Given the description of an element on the screen output the (x, y) to click on. 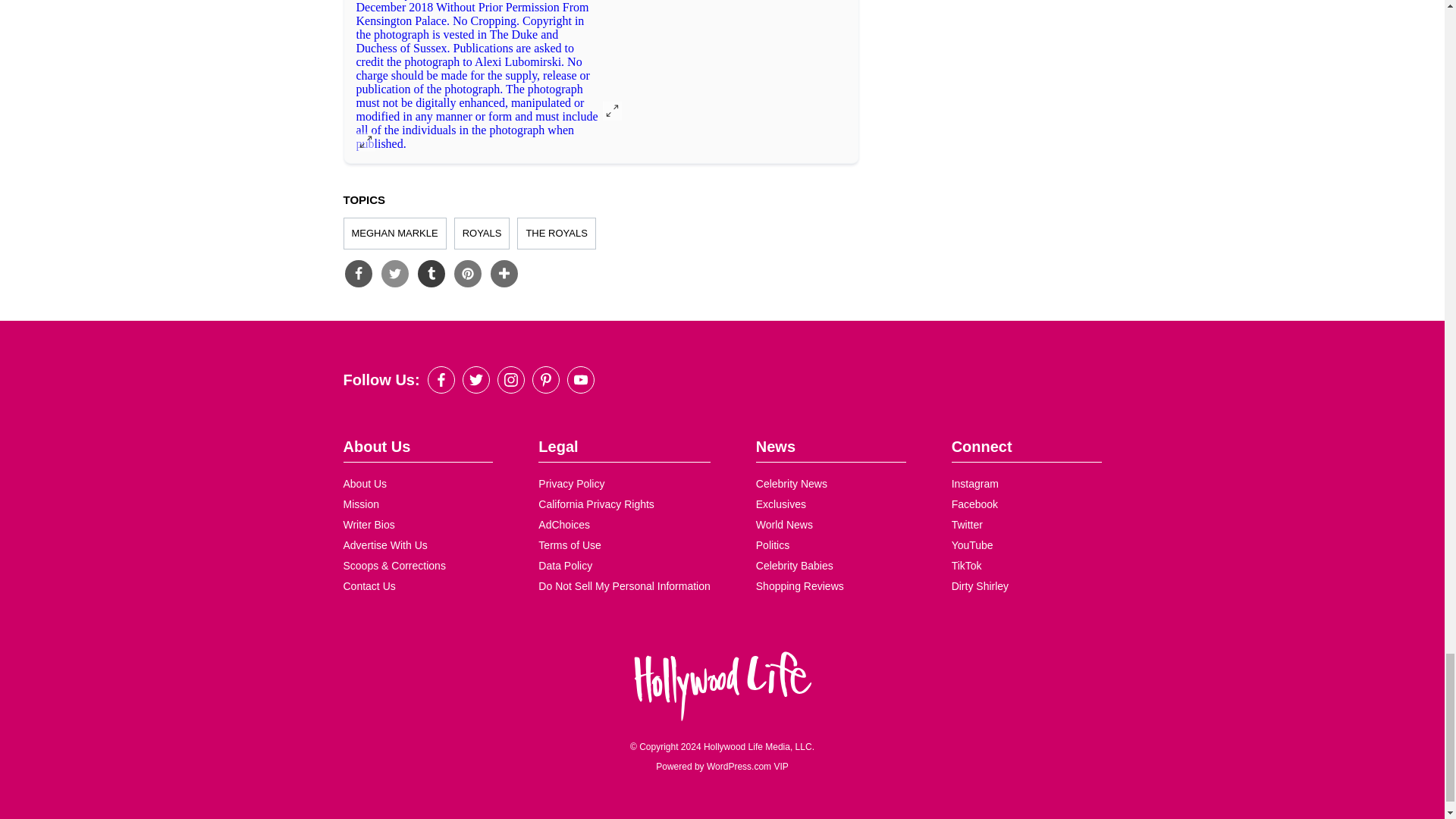
More Share Options (502, 273)
Tweet (393, 273)
Pin it (466, 273)
Post to Tumblr (430, 273)
Share on Facebook (357, 273)
